Given the description of an element on the screen output the (x, y) to click on. 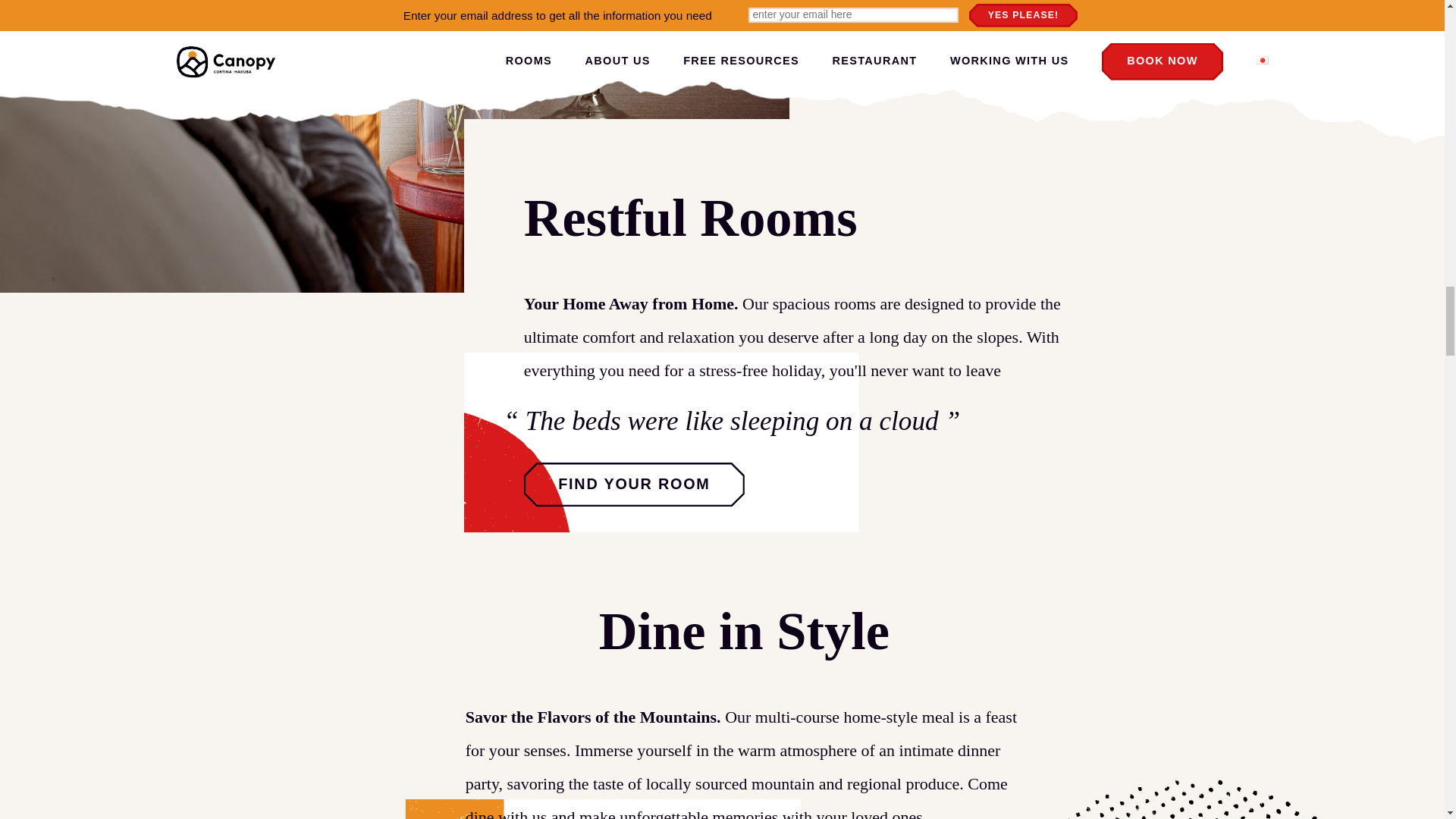
View gallery (713, 709)
FIND YOUR ROOM (634, 484)
